Given the description of an element on the screen output the (x, y) to click on. 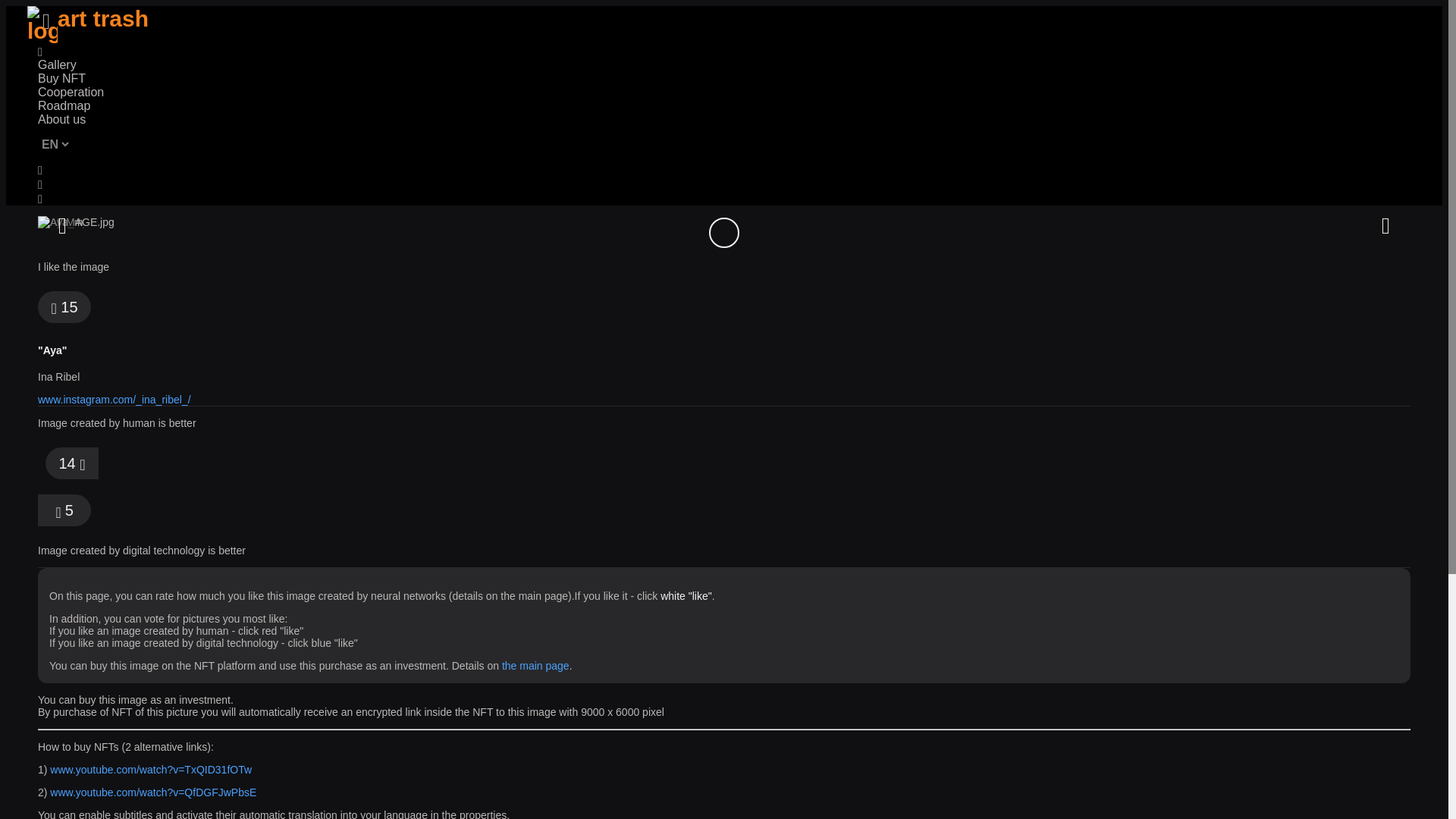
the main page (535, 665)
Buy NFT (61, 78)
Cooperation (70, 91)
500 (724, 232)
About us (61, 119)
Roadmap (63, 105)
Gallery (57, 64)
15 (63, 306)
5 (63, 510)
art trash (87, 24)
